Given the description of an element on the screen output the (x, y) to click on. 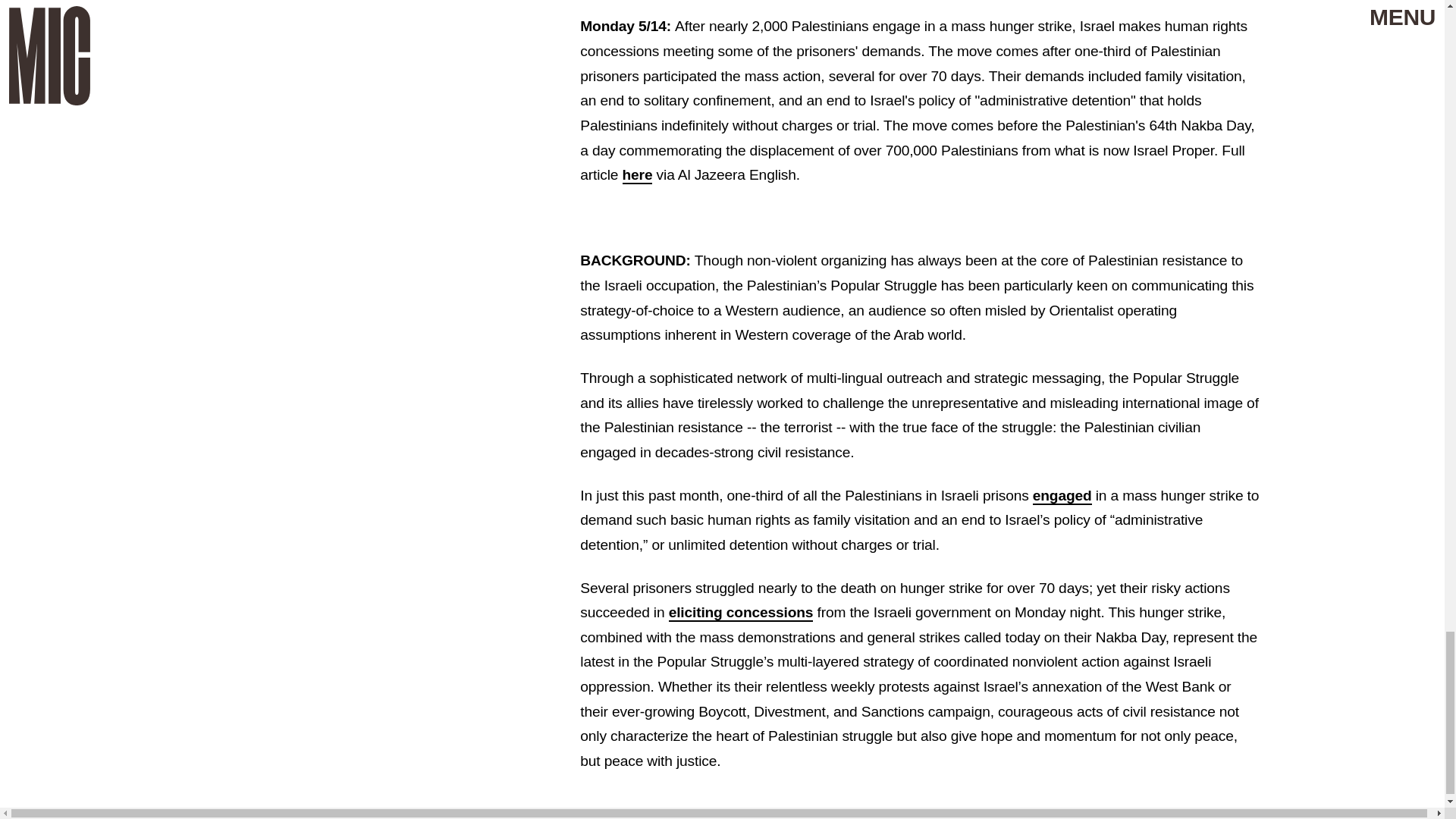
here (637, 175)
engaged (1062, 496)
eliciting concessions (740, 612)
